Given the description of an element on the screen output the (x, y) to click on. 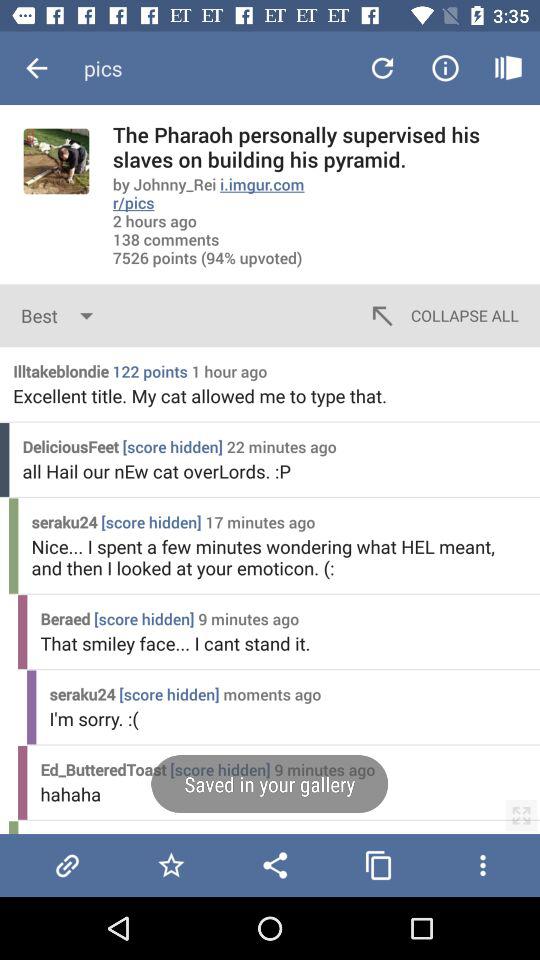
choose collapse all (442, 315)
